Given the description of an element on the screen output the (x, y) to click on. 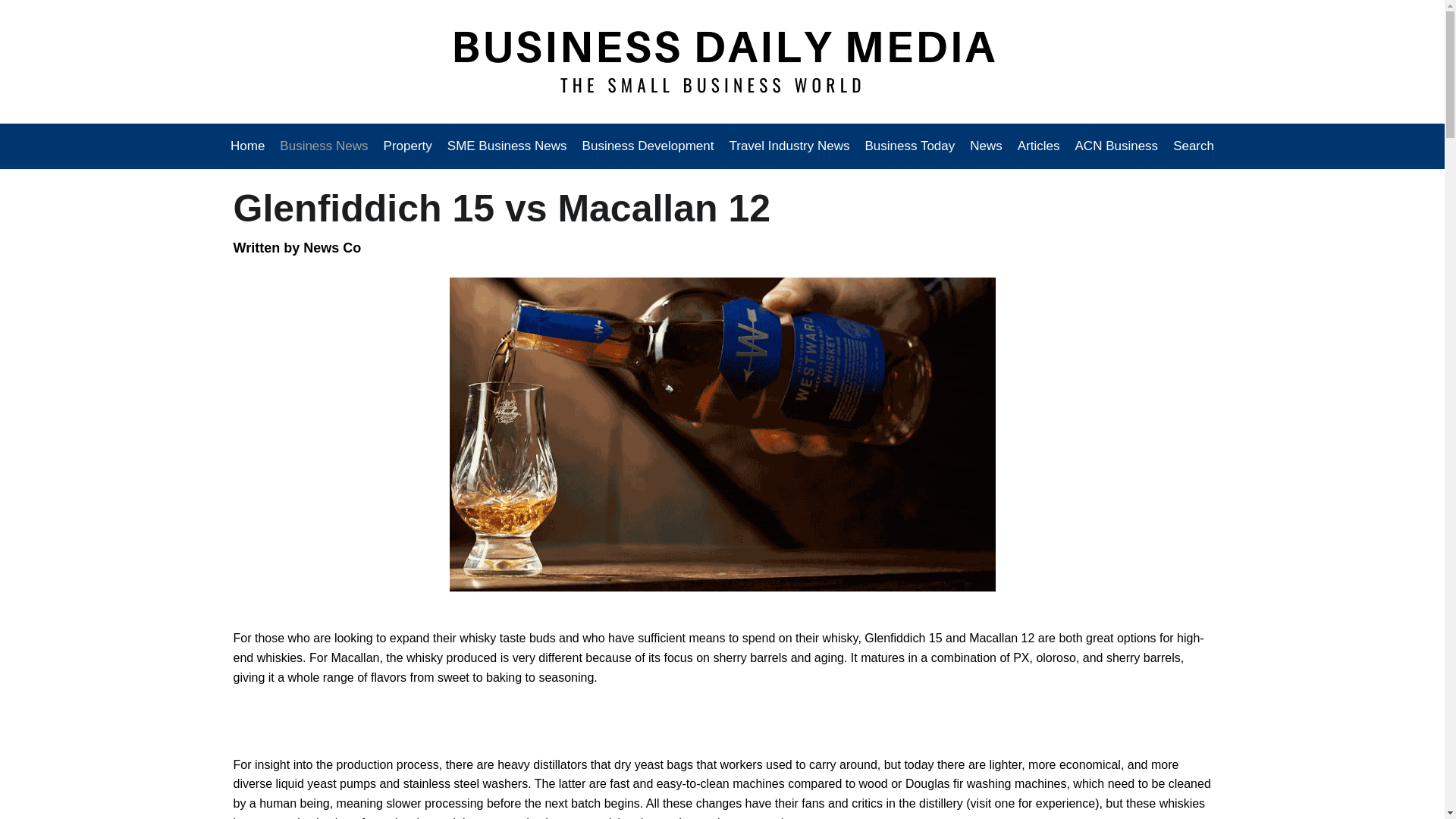
Home (251, 145)
Articles (1038, 145)
SME Business News (507, 145)
Travel Industry News (788, 145)
Property (407, 145)
Business Development (648, 145)
ACN Business (1116, 145)
Business News (323, 145)
Business Today (909, 145)
News (986, 145)
